Given the description of an element on the screen output the (x, y) to click on. 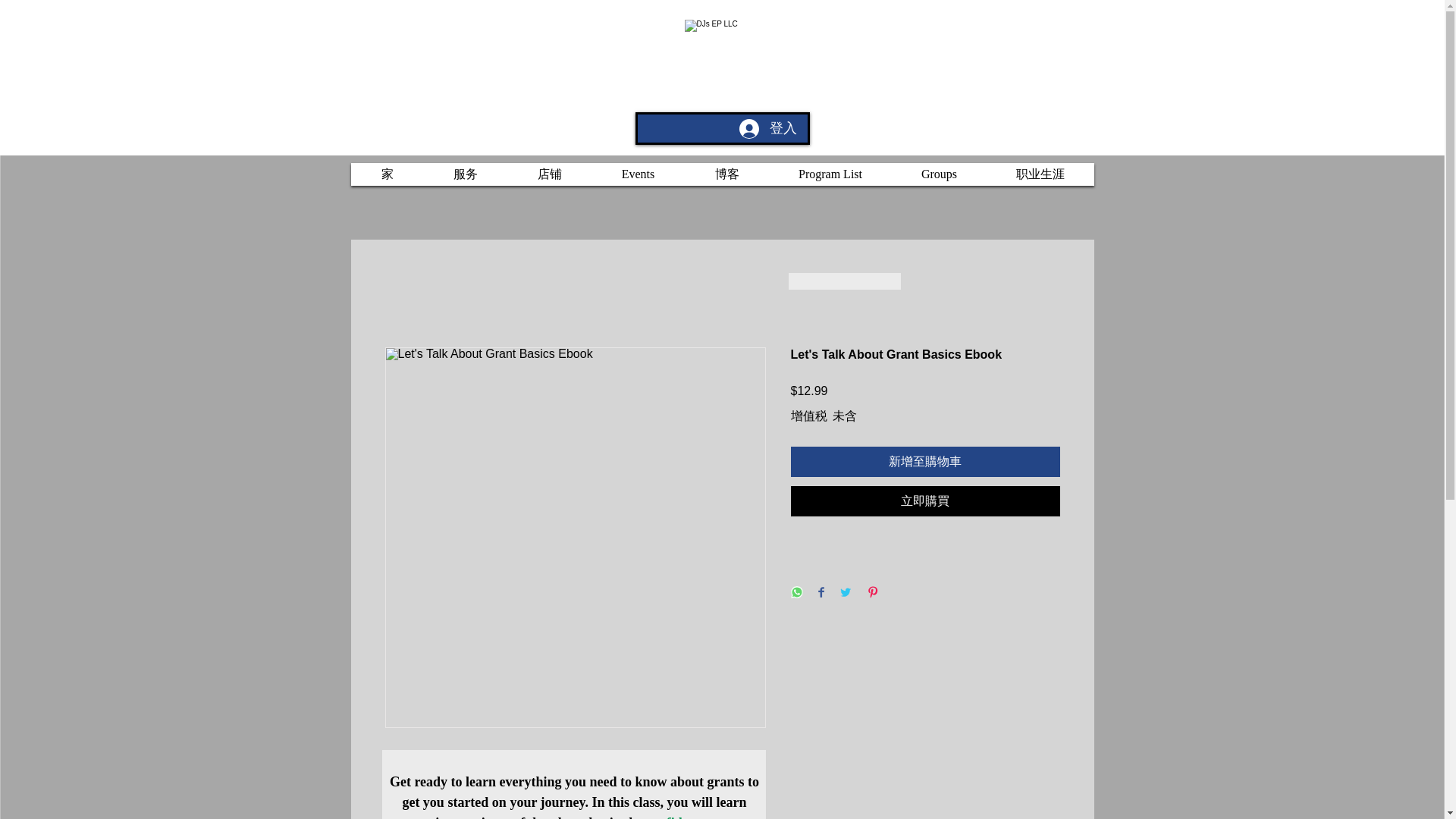
Groups (938, 174)
Events (637, 174)
Program List (829, 174)
